Given the description of an element on the screen output the (x, y) to click on. 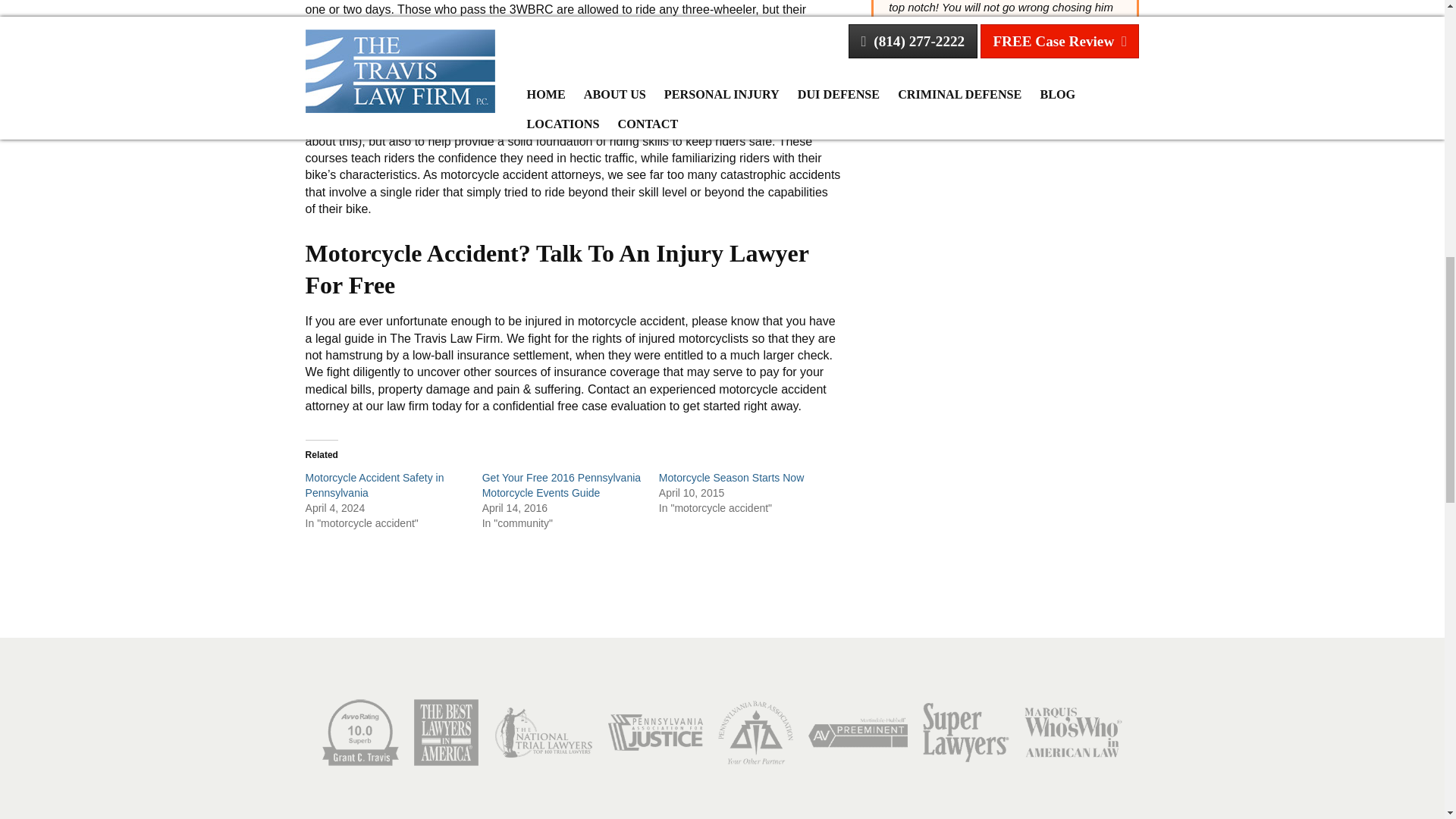
Motorcycle Accident Safety in Pennsylvania (374, 484)
Get Your Free 2016 Pennsylvania Motorcycle Events Guide (560, 484)
Motorcycle Season Starts Now (731, 477)
